Given the description of an element on the screen output the (x, y) to click on. 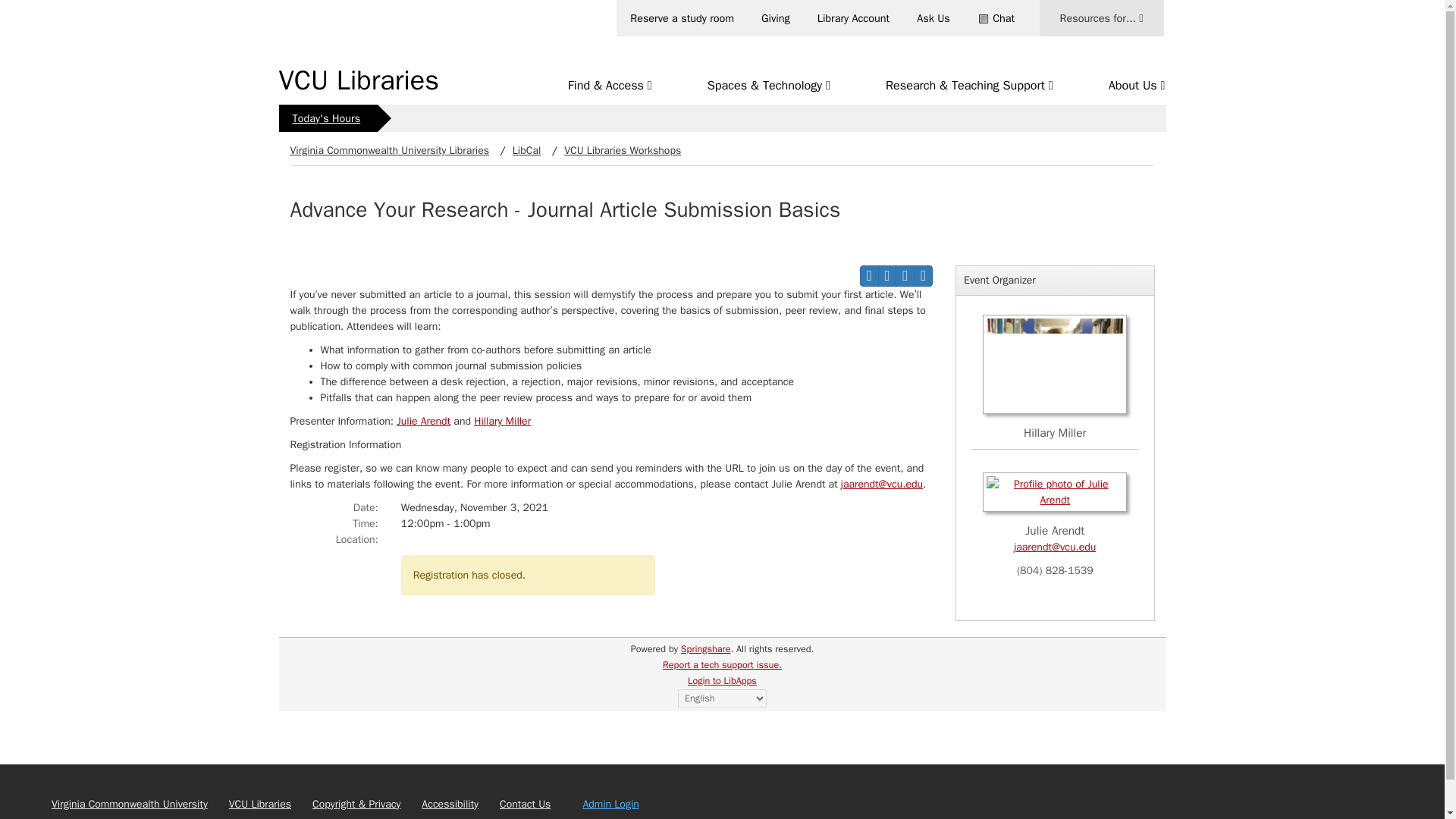
Reserve a study room (682, 17)
Print page (869, 275)
Graduate Students (1096, 46)
VCU Libraries (359, 80)
Ask Us (933, 17)
Share on Facebook (904, 275)
Library Account (853, 17)
Undergraduate Students (1096, 54)
libcal-us-5 (654, 648)
Add to Calendar using iCal (886, 275)
Resources for... (1101, 18)
Giving (775, 17)
Share on Twitter (923, 275)
Chat (996, 17)
